Given the description of an element on the screen output the (x, y) to click on. 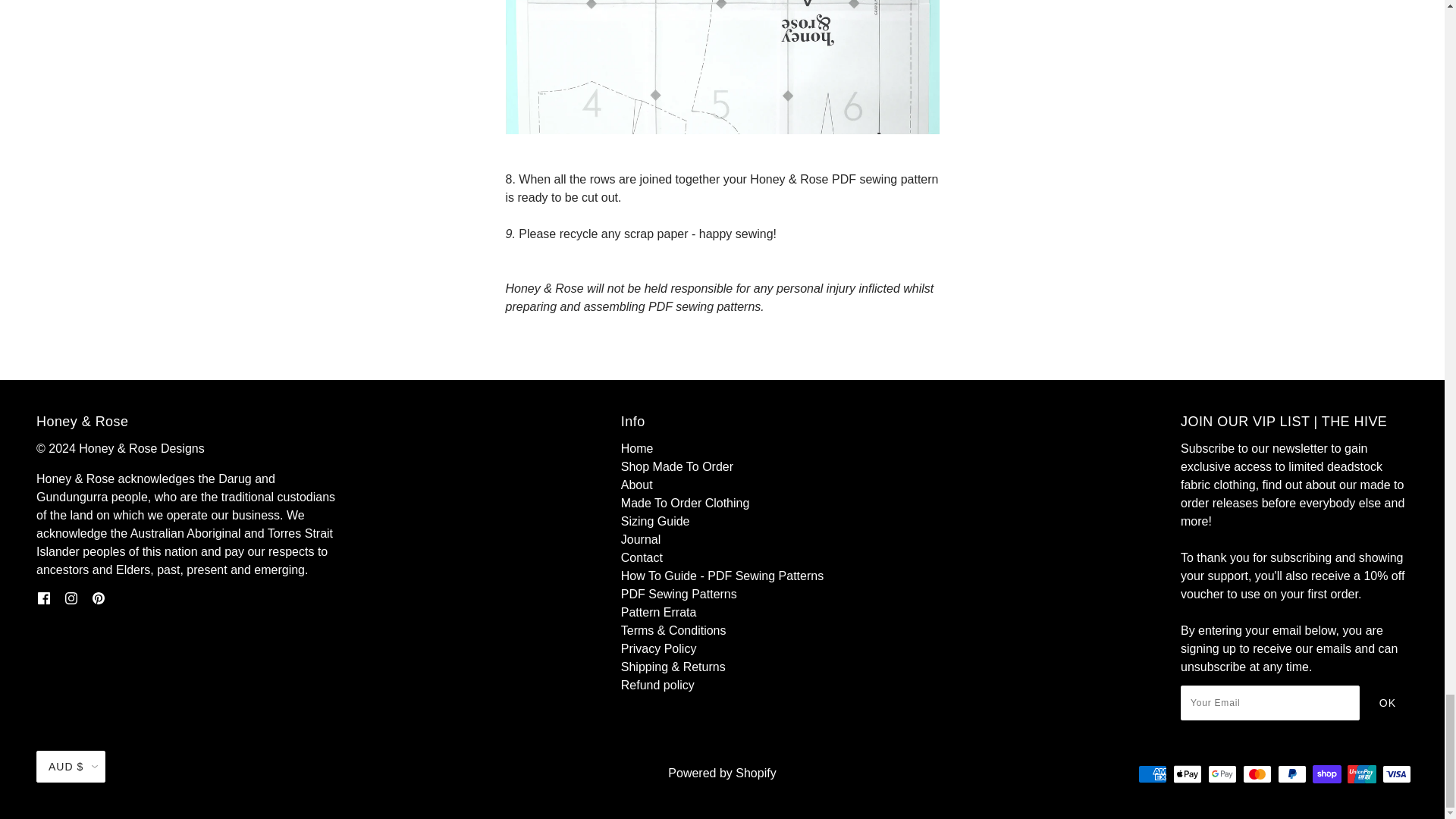
American Express (1152, 773)
About (636, 484)
PDF Sewing Patterns (678, 594)
Privacy Policy (659, 648)
Refund policy (657, 684)
Visa (1395, 773)
Sizing Guide (655, 521)
Pattern Errata (659, 612)
PayPal (1292, 773)
Mastercard (1257, 773)
Union Pay (1361, 773)
Shop Pay (1326, 773)
Journal (641, 539)
How To Guide - PDF Sewing Patterns  (722, 575)
Ok (1387, 703)
